Given the description of an element on the screen output the (x, y) to click on. 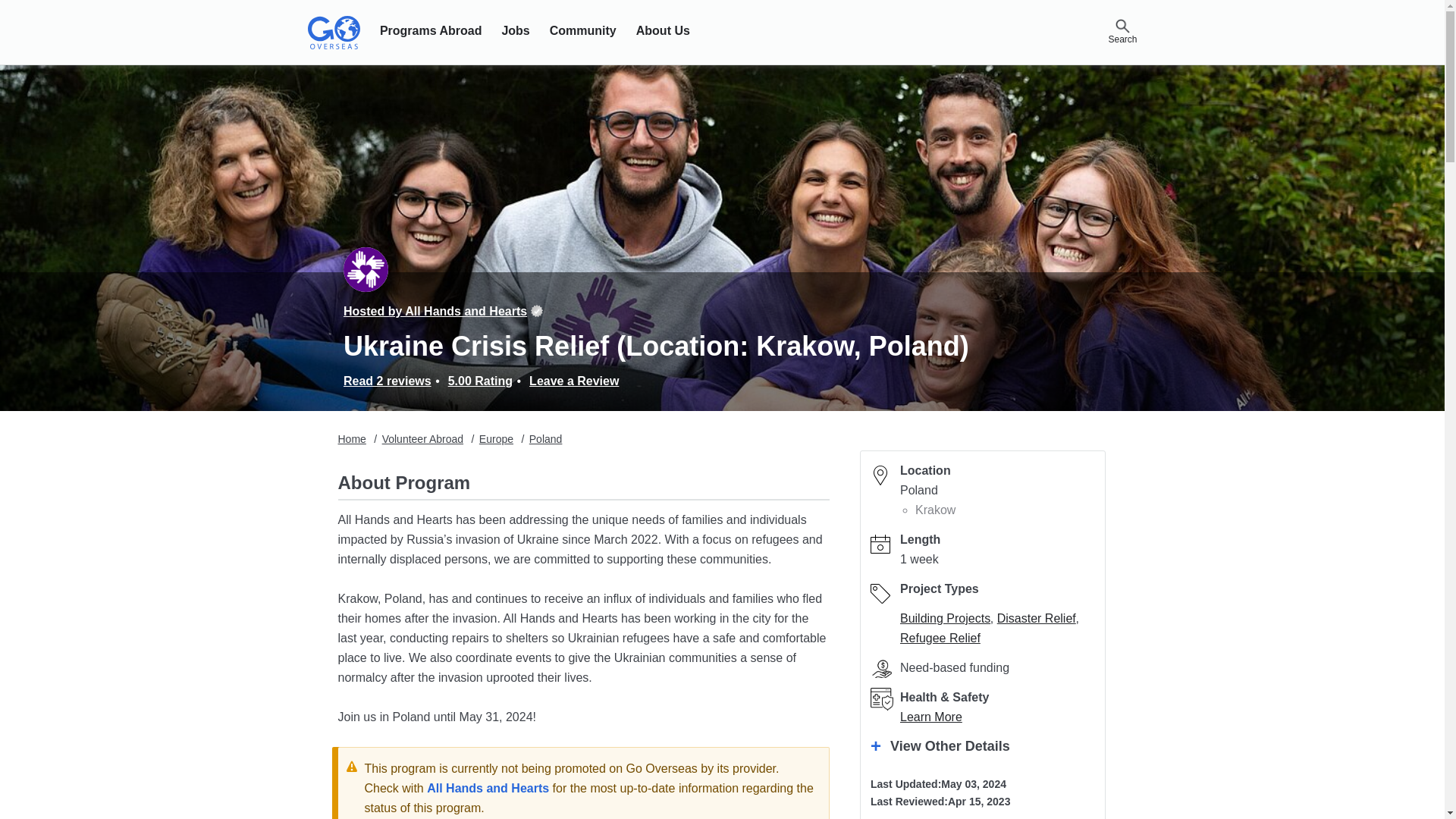
5.00 Rating (480, 380)
Read 2 reviews (386, 380)
All Hands and Hearts - Logo (365, 269)
Hosted by All Hands and Hearts (435, 310)
Learn More (930, 716)
Building Projects (944, 617)
Leave a Review (573, 380)
Disaster Relief (1036, 617)
Refugee Relief (939, 637)
Leave a Review (573, 380)
